Given the description of an element on the screen output the (x, y) to click on. 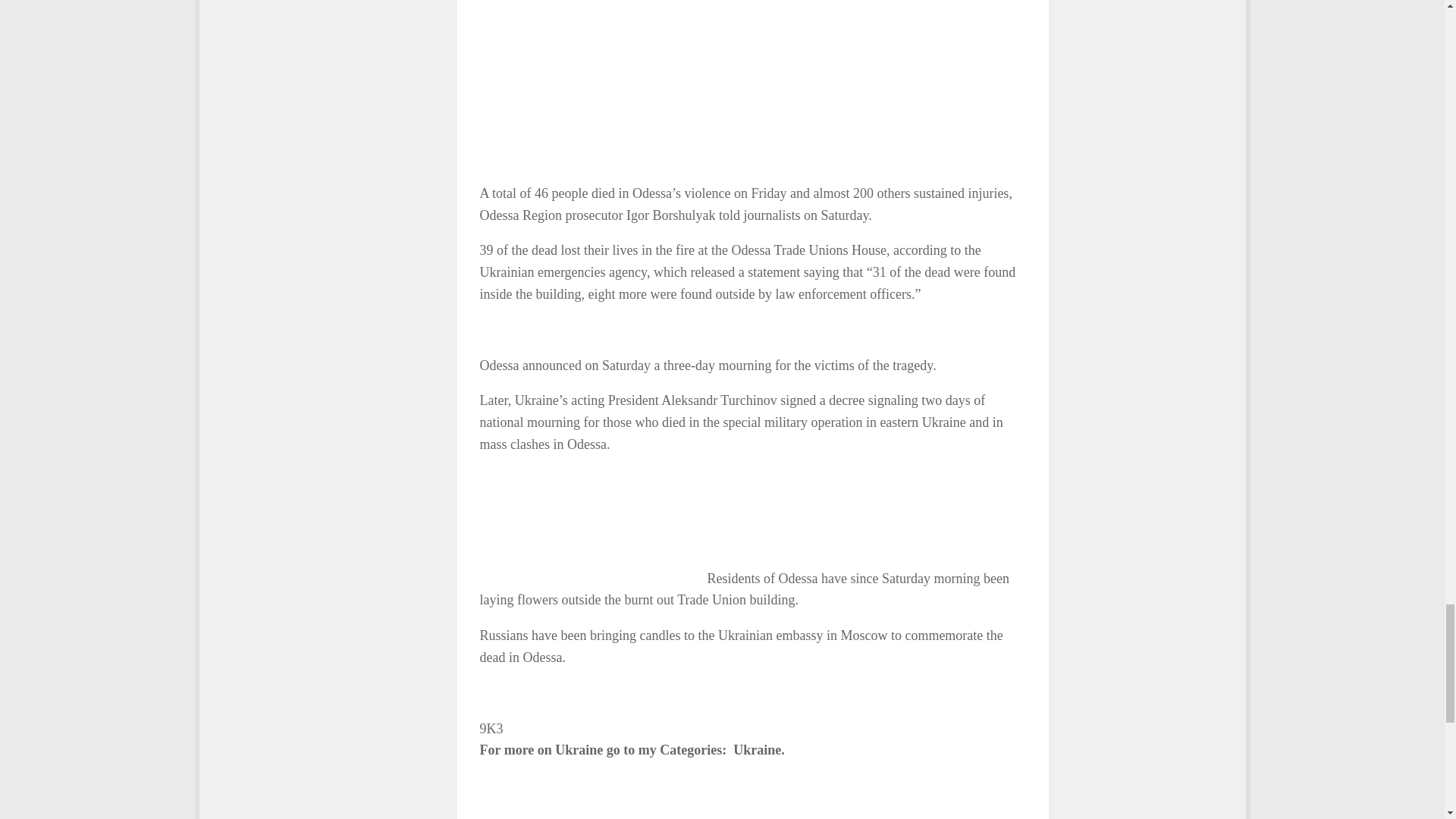
Twitter Tweet (592, 526)
